Given the description of an element on the screen output the (x, y) to click on. 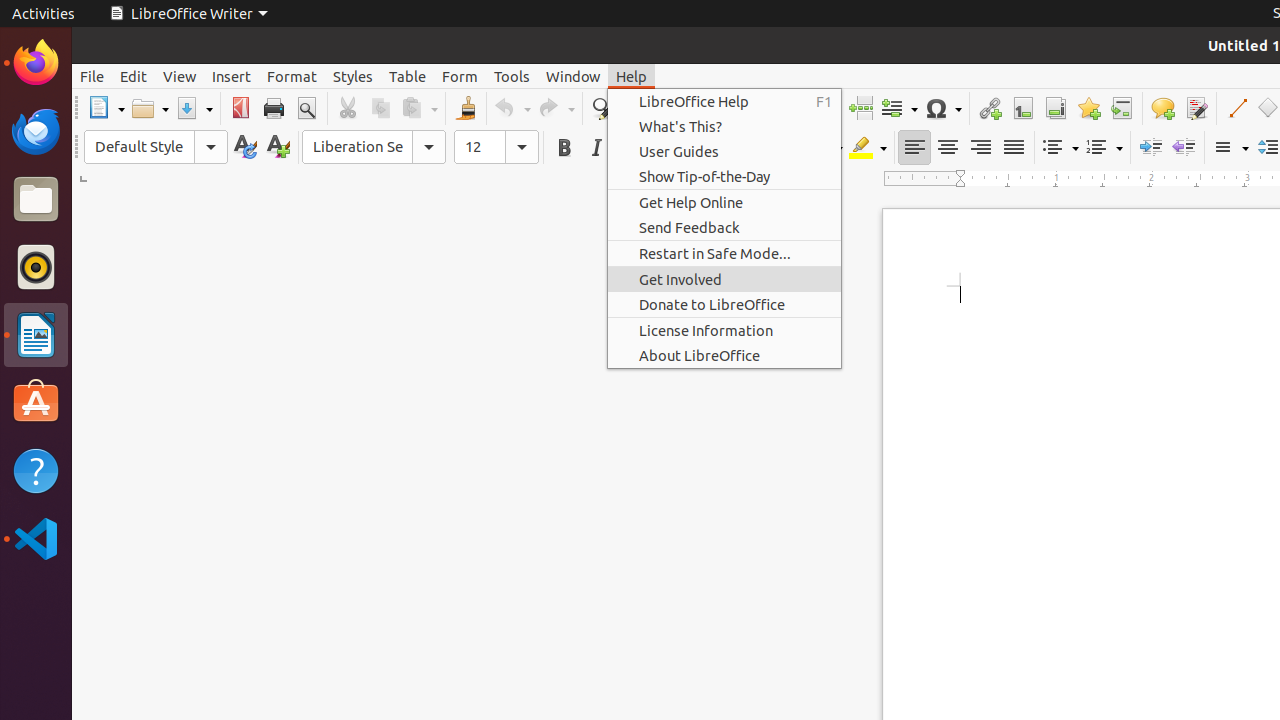
Thunderbird Mail Element type: push-button (36, 131)
Styles Element type: menu (353, 76)
Save Element type: push-button (194, 108)
Track Changes Functions Element type: toggle-button (1195, 108)
License Information Element type: menu-item (724, 330)
